Given the description of an element on the screen output the (x, y) to click on. 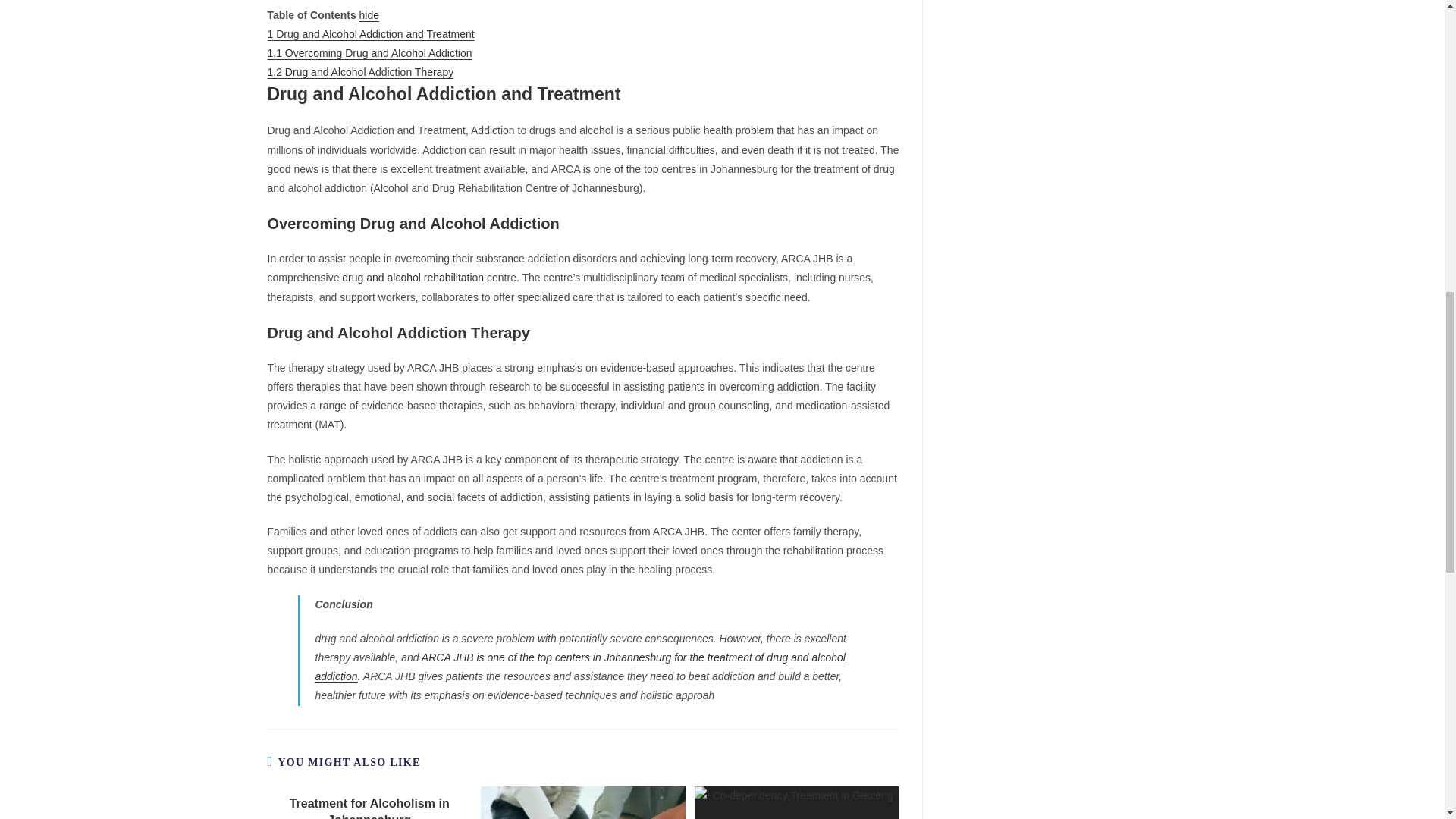
1.1 Overcoming Drug and Alcohol Addiction (368, 52)
drug and alcohol rehabilitation (412, 277)
1.2 Drug and Alcohol Addiction Therapy (359, 71)
hide (368, 15)
1 Drug and Alcohol Addiction and Treatment (370, 33)
Treatment for Alcoholism in Johannesburg (368, 807)
